Given the description of an element on the screen output the (x, y) to click on. 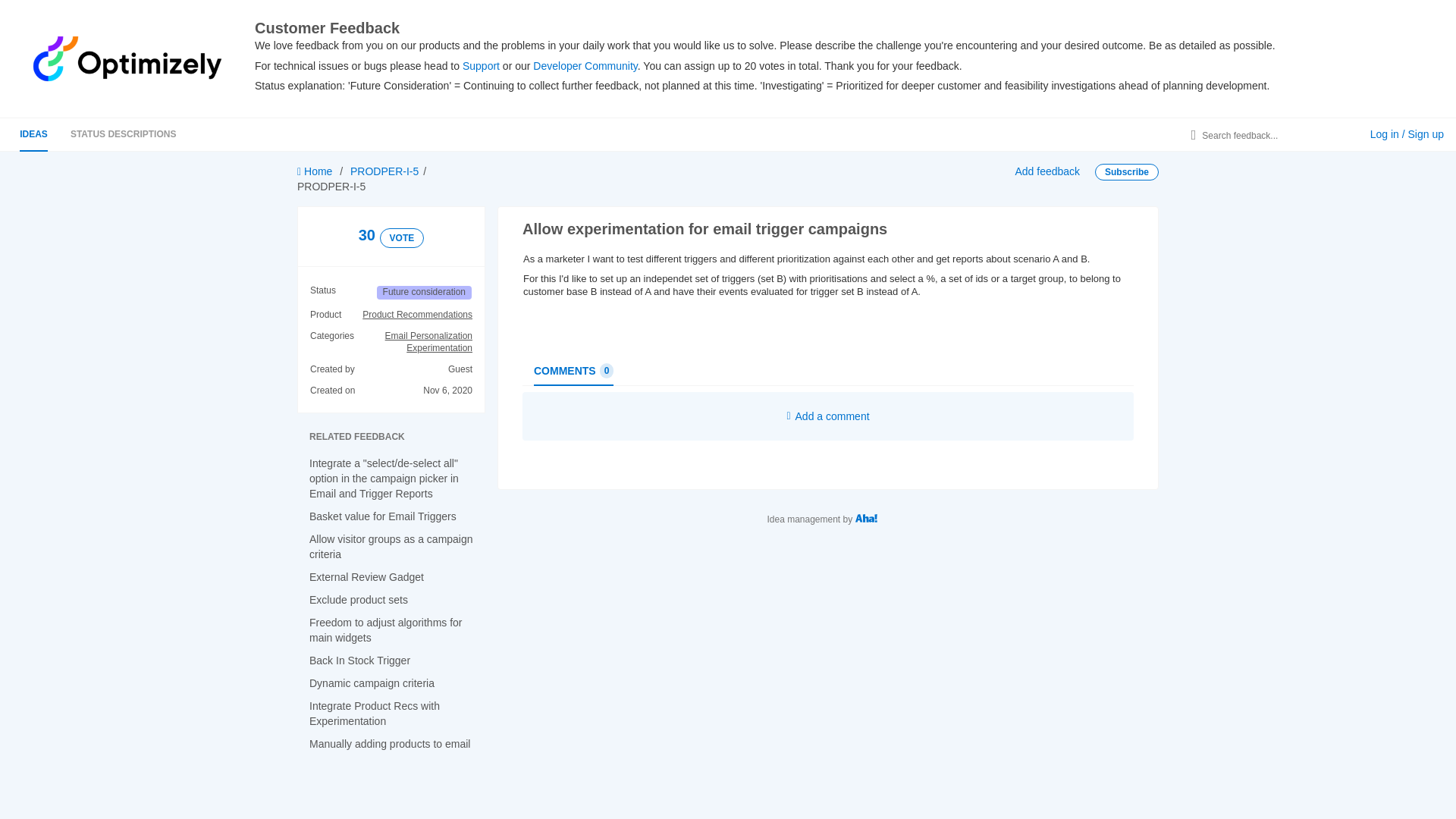
30 VOTE (390, 236)
Experimentation (428, 348)
Support (481, 65)
Manually adding products to email (389, 743)
Exclude product sets (357, 599)
Product Recommendations (416, 315)
Allow visitor groups as a campaign criteria (390, 546)
STATUS DESCRIPTIONS (122, 133)
Add feedback (1047, 171)
